Given the description of an element on the screen output the (x, y) to click on. 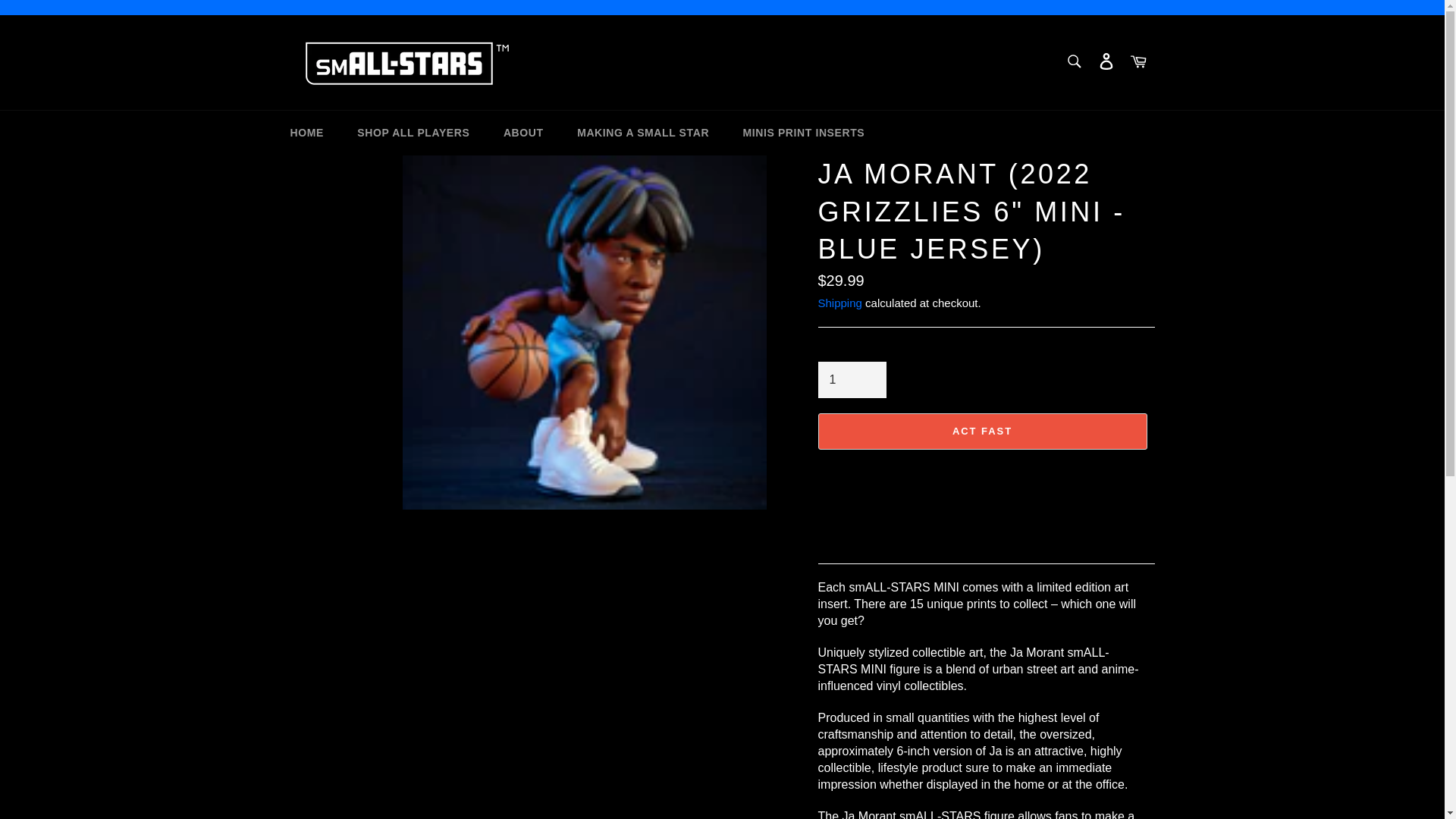
MINIS PRINT INSERTS (804, 132)
ACT FAST (981, 431)
Shipping (838, 302)
Search (1073, 60)
HOME (306, 132)
Cart (1138, 62)
MAKING A SMALL STAR (642, 132)
SHOP ALL PLAYERS (413, 132)
ABOUT (523, 132)
1 (850, 379)
